Given the description of an element on the screen output the (x, y) to click on. 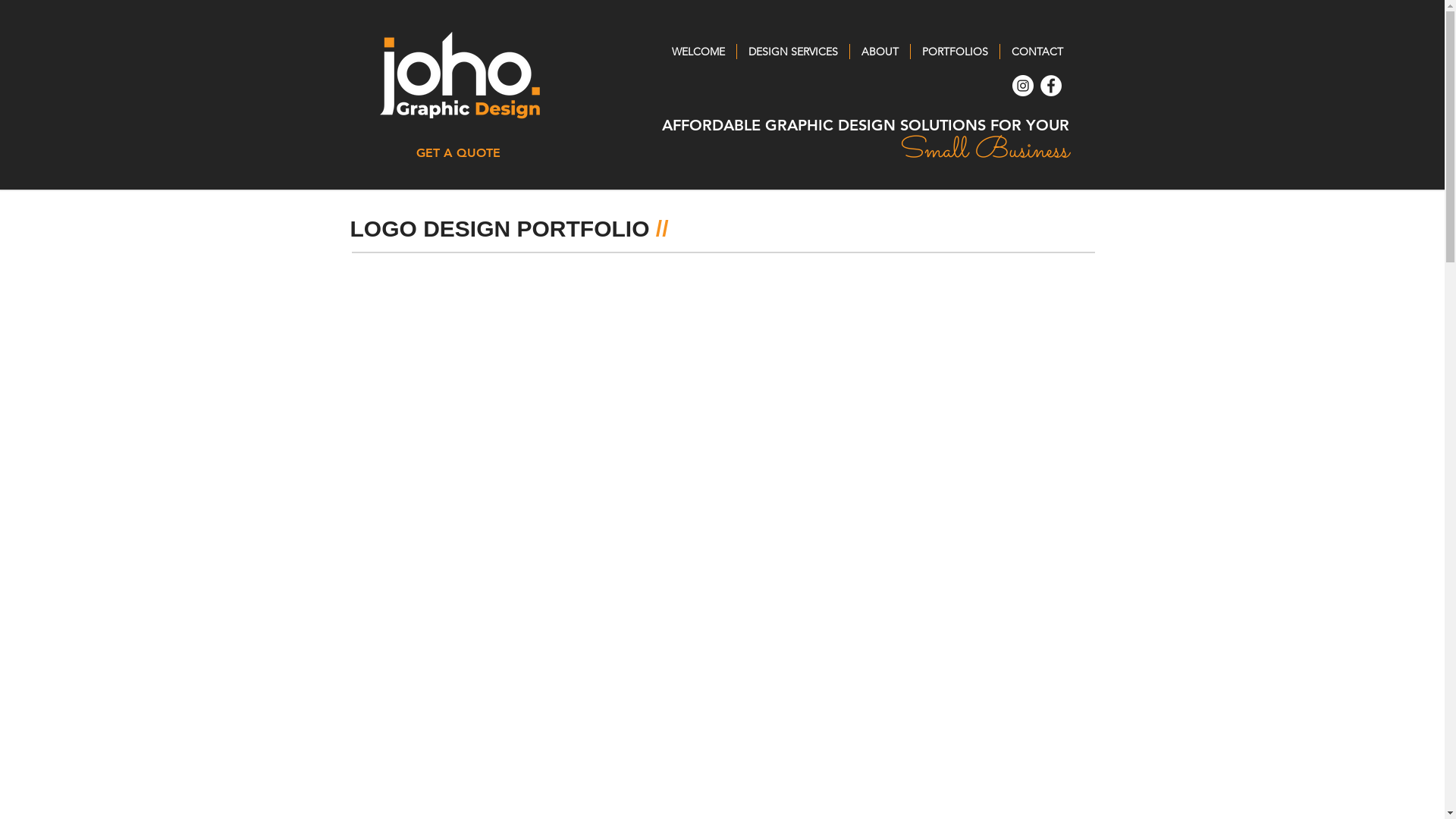
WELCOME Element type: text (697, 51)
DESIGN SERVICES Element type: text (793, 51)
PORTFOLIOS Element type: text (954, 51)
GET A QUOTE Element type: text (458, 153)
ABOUT Element type: text (879, 51)
CONTACT Element type: text (1036, 51)
